Given the description of an element on the screen output the (x, y) to click on. 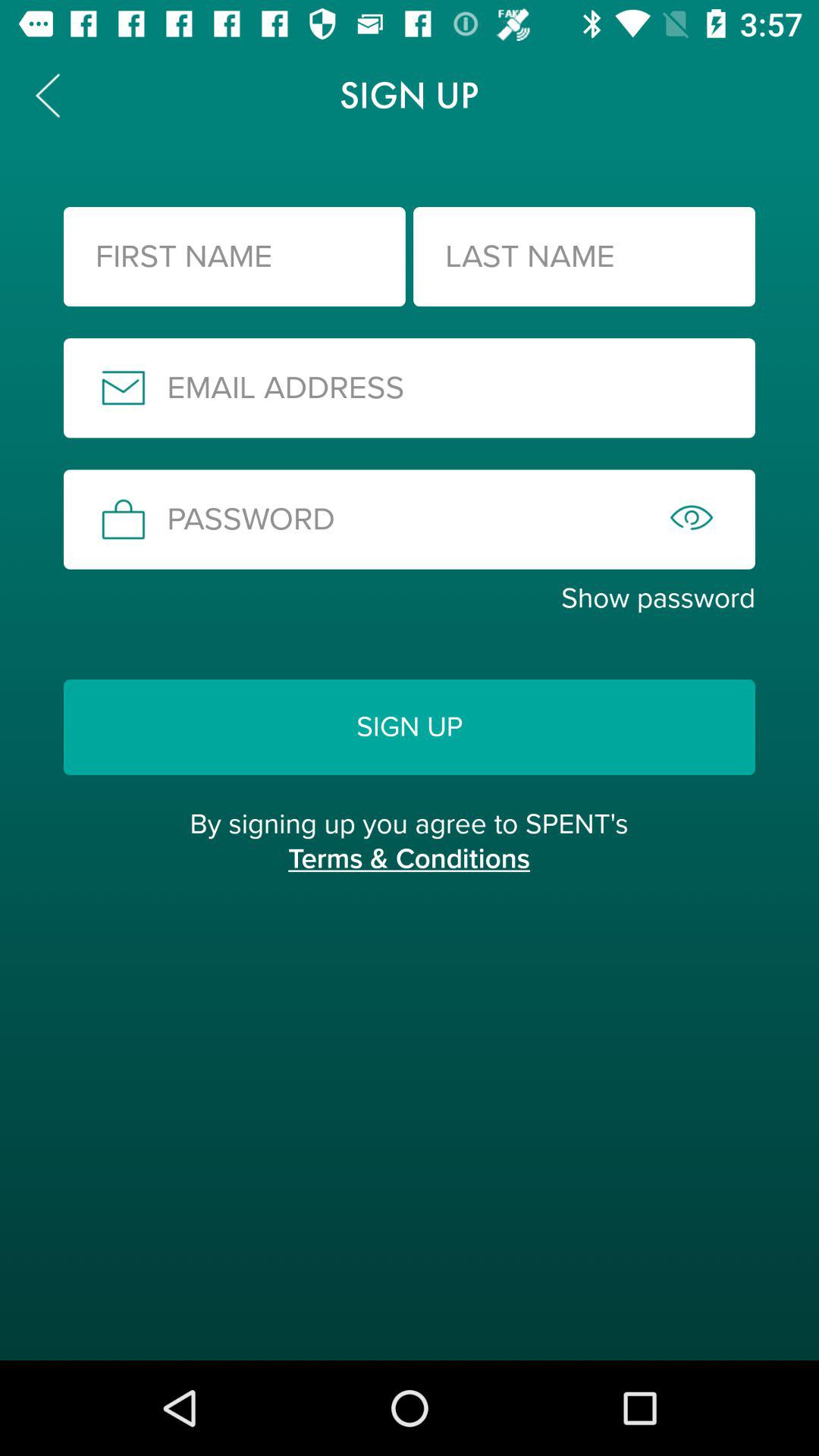
last name (584, 256)
